Given the description of an element on the screen output the (x, y) to click on. 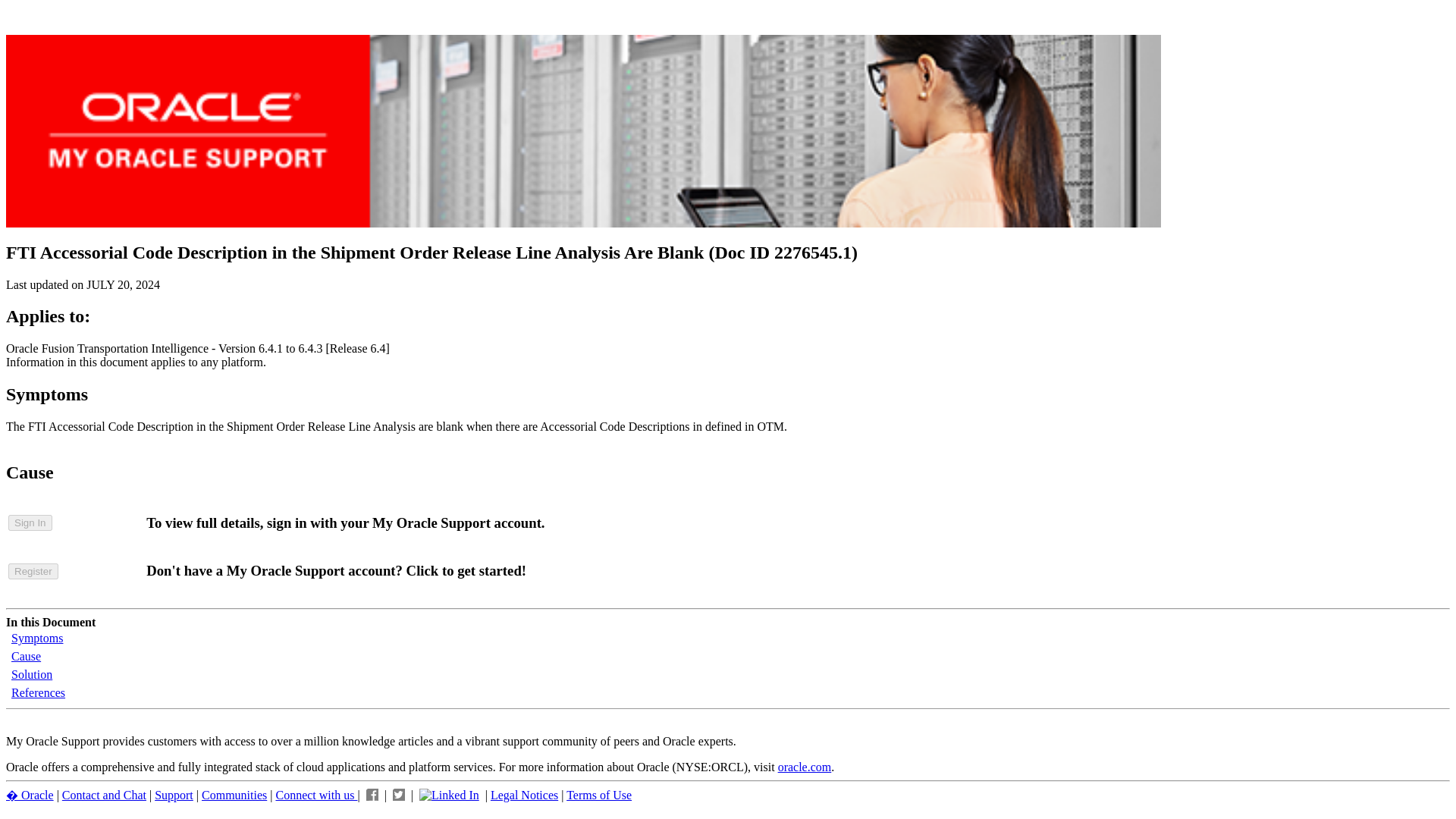
Register (33, 571)
oracle.com (804, 766)
Solution (31, 674)
oracle.com (804, 766)
Symptoms (36, 637)
References (38, 692)
Sign In (30, 521)
Sign In (30, 522)
Register (33, 570)
Cause (25, 656)
